Given the description of an element on the screen output the (x, y) to click on. 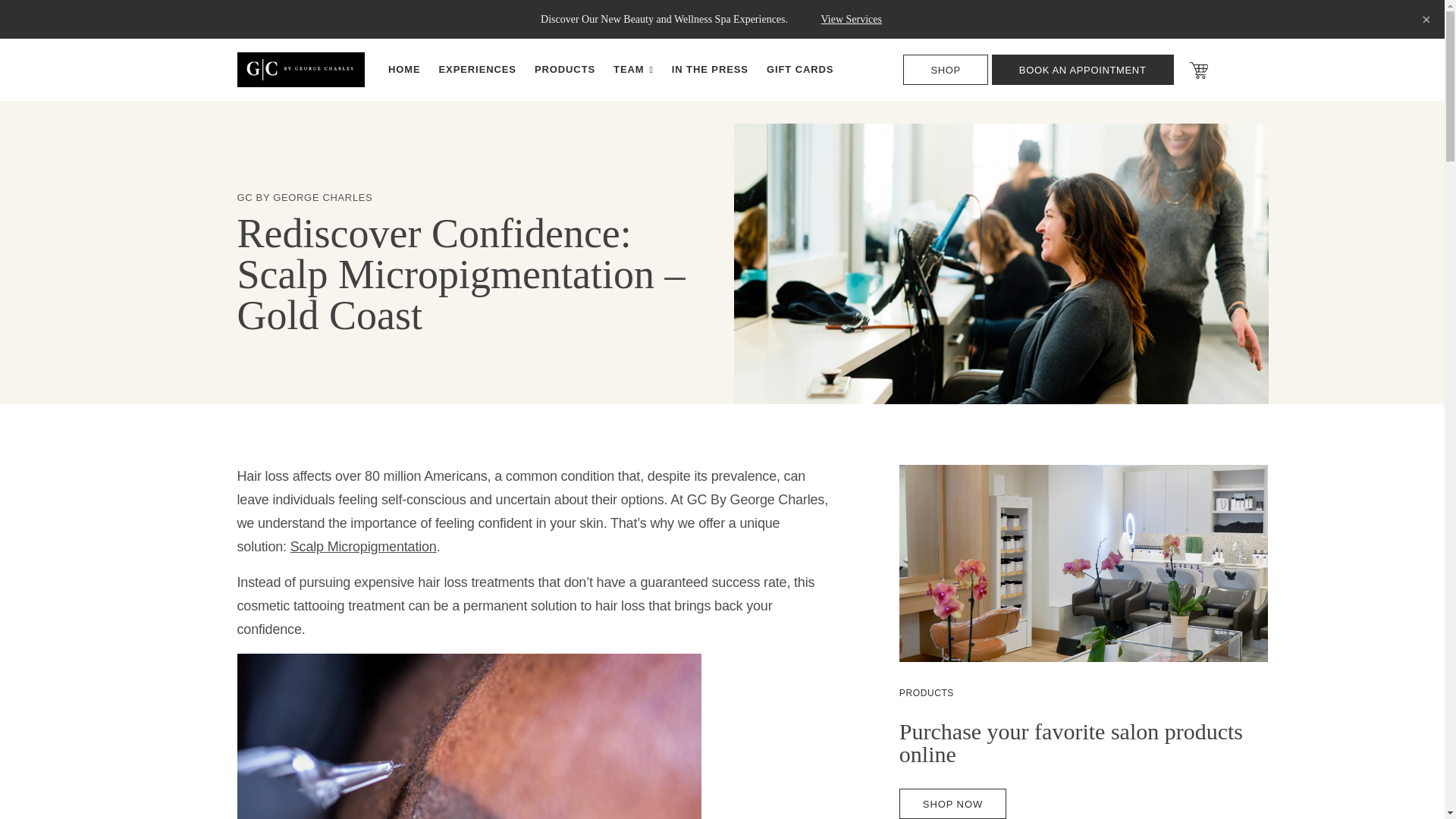
In The Press (709, 68)
Experiences (477, 68)
Scalp Micropigmentation (362, 546)
IN THE PRESS (709, 68)
TEAM (632, 69)
GIFT CARDS (799, 68)
GC by George Charles (299, 68)
SHOP NOW (952, 803)
BOOK AN APPOINTMENT (1082, 69)
HOME (404, 68)
